Given the description of an element on the screen output the (x, y) to click on. 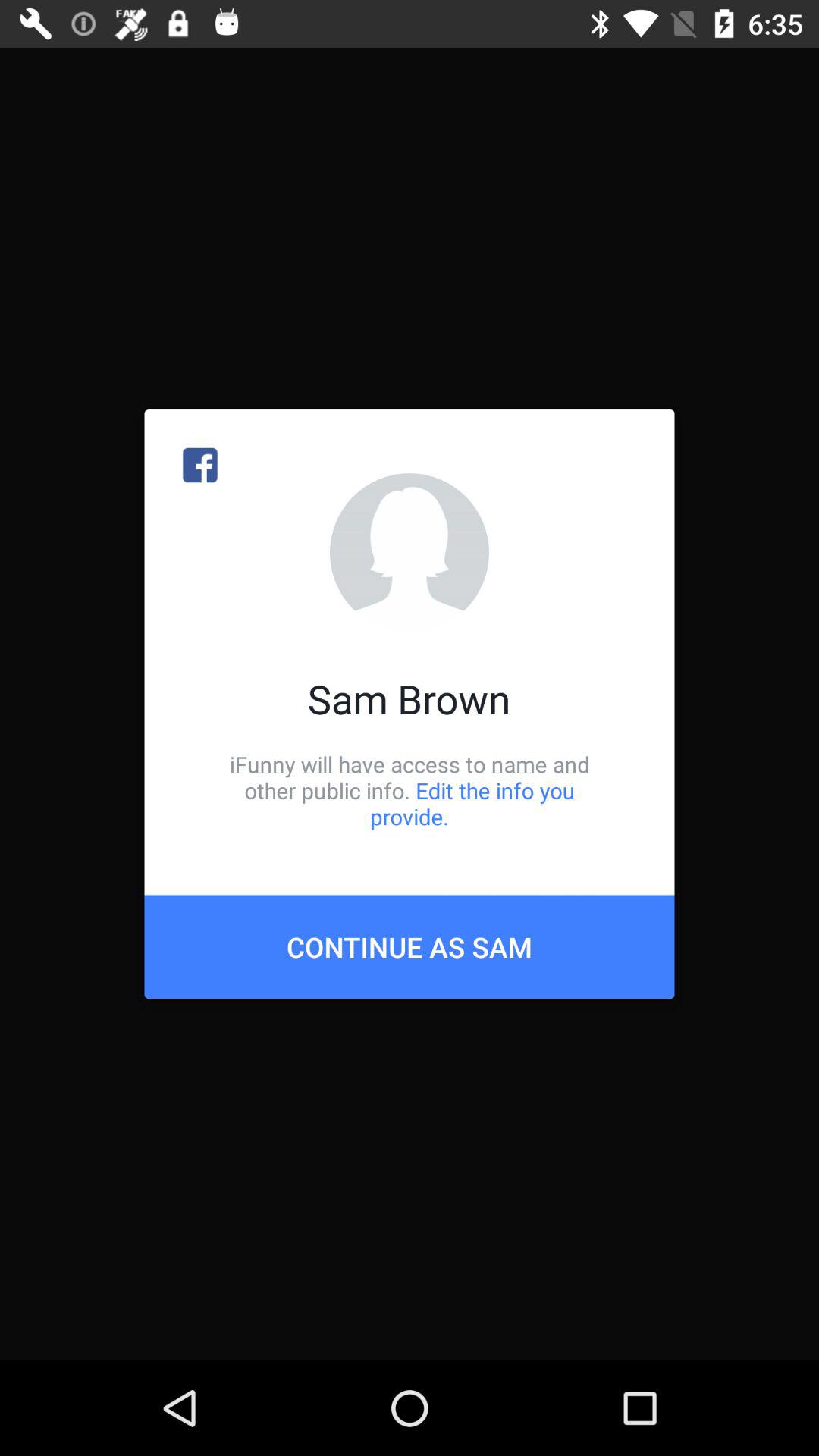
open the continue as sam item (409, 946)
